Given the description of an element on the screen output the (x, y) to click on. 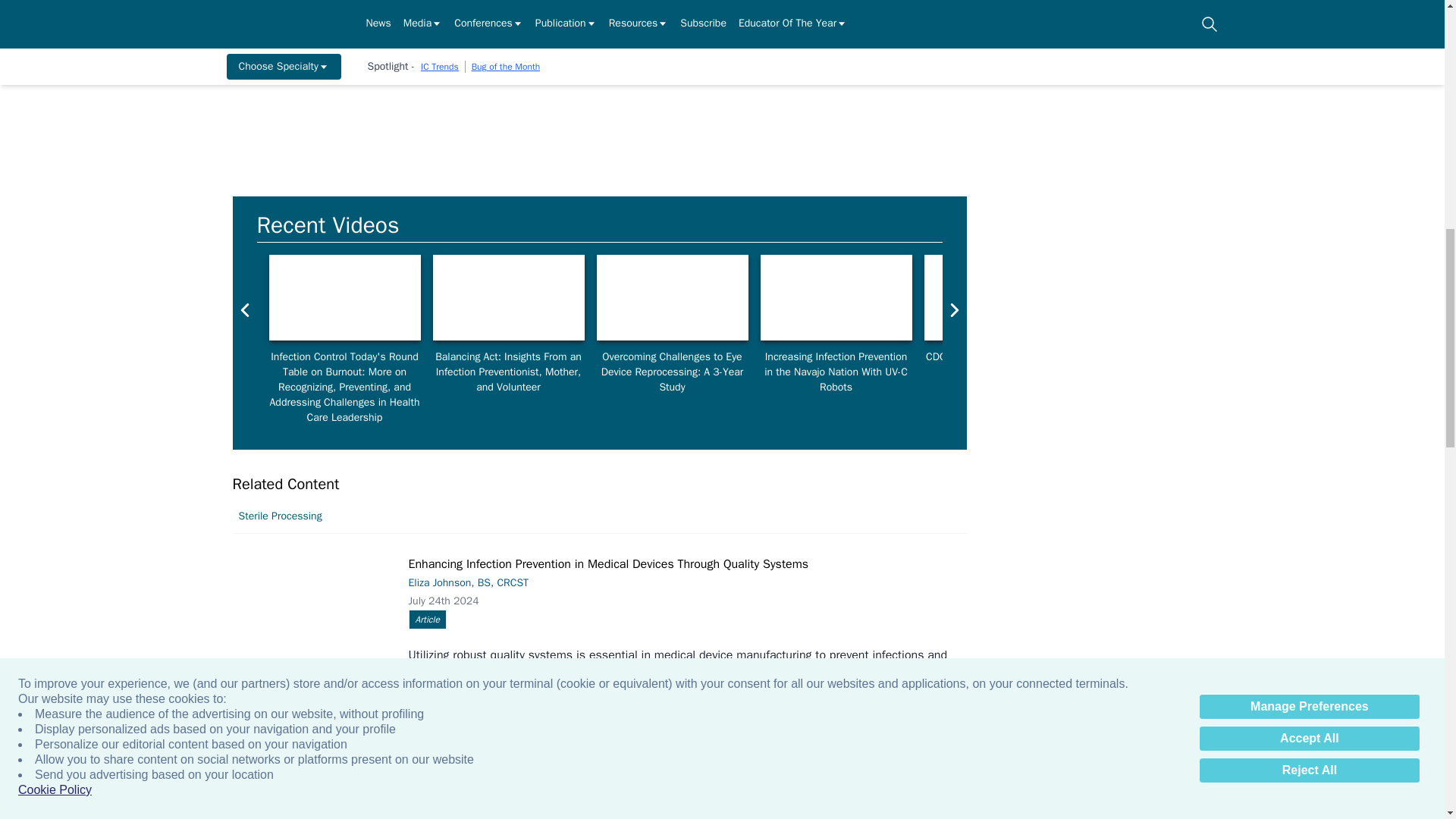
Infection Control Today Topic of the Month: Mental Health (507, 297)
Infection Control Today Topic of the Month: Mental Health (343, 297)
